Given the description of an element on the screen output the (x, y) to click on. 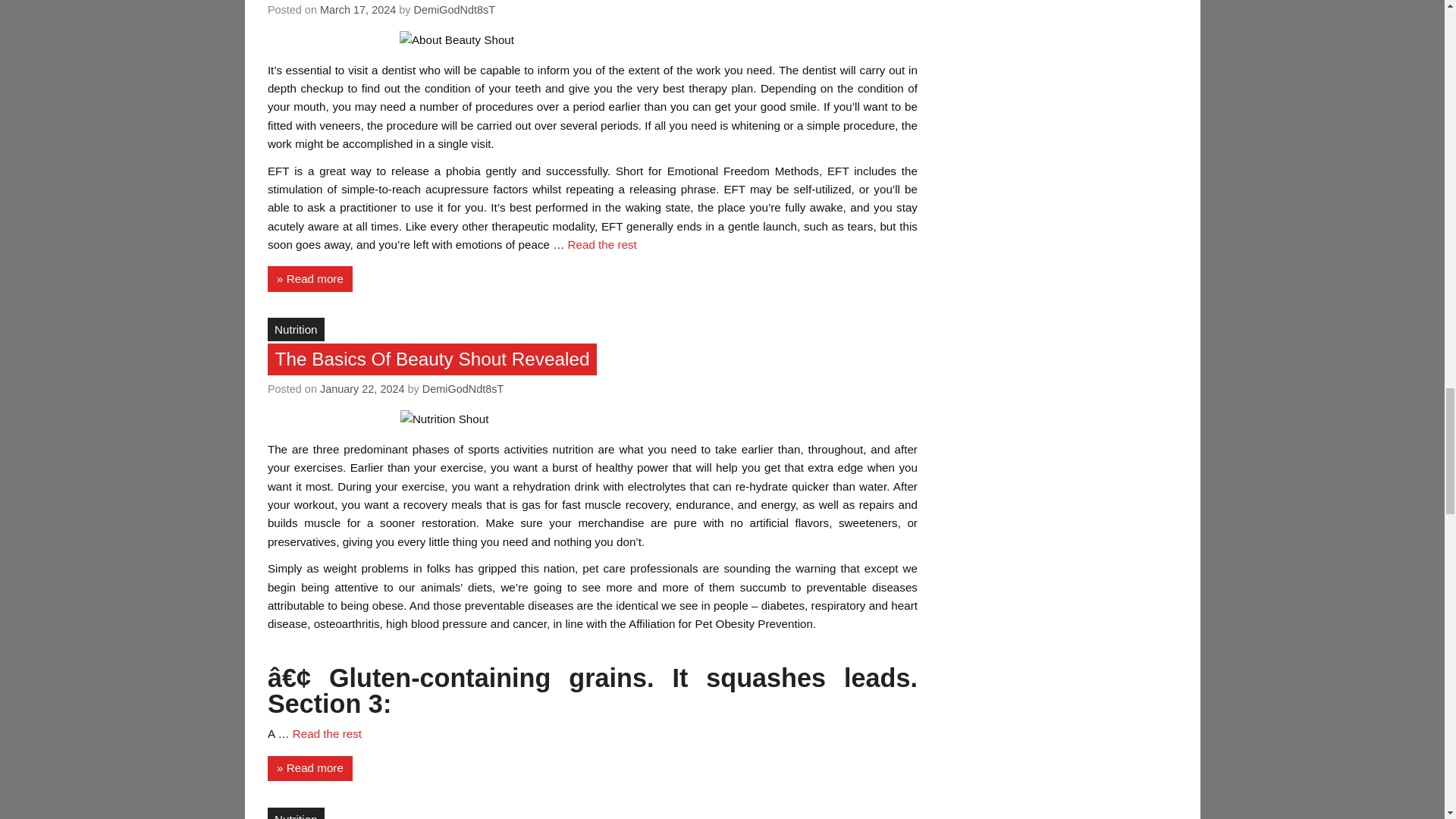
March 17, 2024 (358, 9)
Read the rest (602, 244)
6:44 pm (358, 9)
Nutrition (295, 328)
January 22, 2024 (362, 388)
9:33 am (362, 388)
The Basics Of Beauty Shout Revealed (432, 358)
DemiGodNdt8sT (454, 9)
DemiGodNdt8sT (462, 388)
View all posts by DemiGodNdt8sT (462, 388)
View all posts by DemiGodNdt8sT (454, 9)
